Given the description of an element on the screen output the (x, y) to click on. 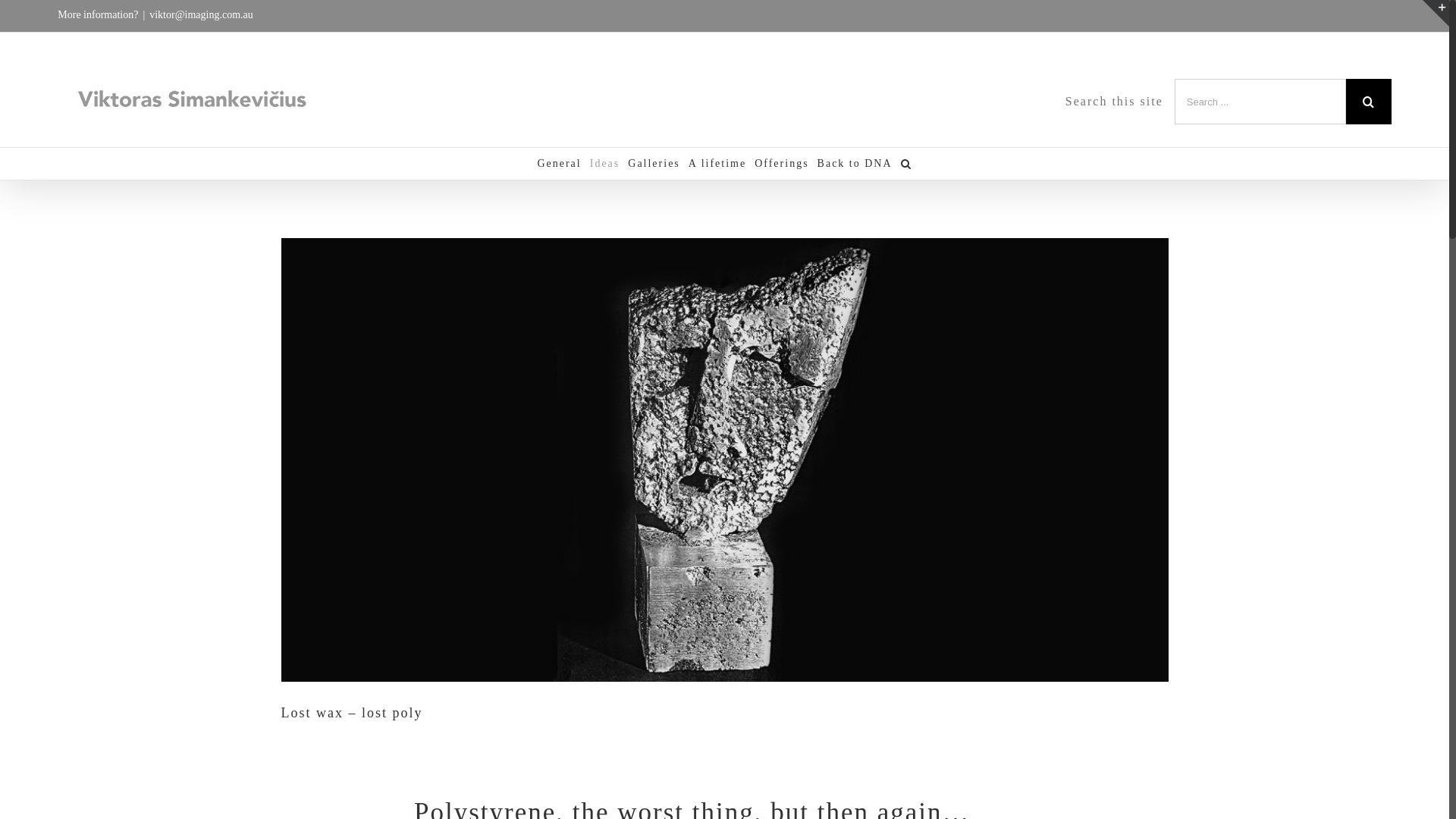
A lifetime Element type: text (717, 163)
Offerings Element type: text (781, 163)
Ideas Element type: text (604, 163)
General Element type: text (558, 163)
viktor@imaging.com.au Element type: text (201, 14)
View Larger Image Element type: text (723, 459)
Galleries Element type: text (653, 163)
Back to DNA Element type: text (854, 163)
